Given the description of an element on the screen output the (x, y) to click on. 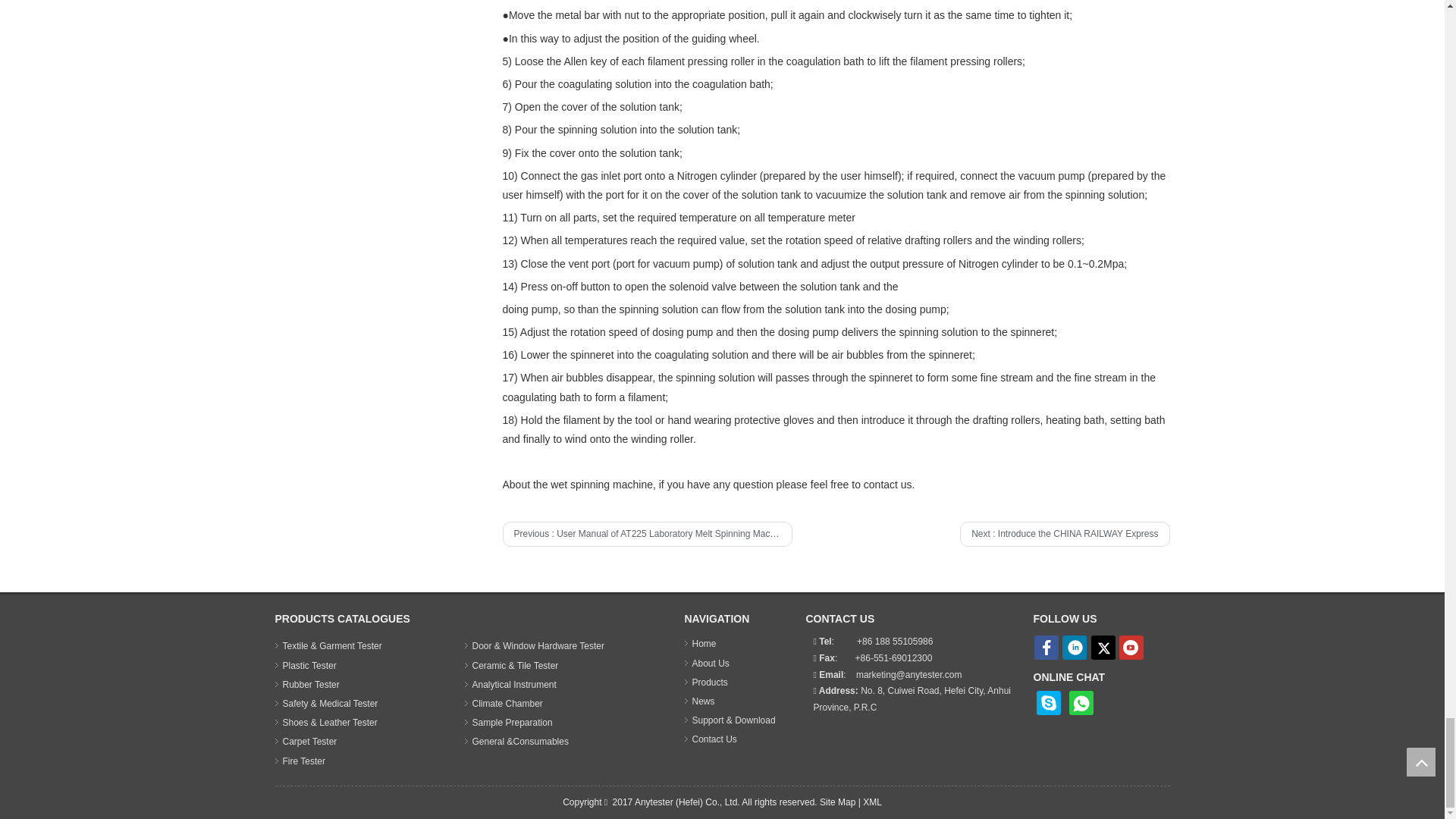
Carpet Tester (309, 741)
Fire Tester (303, 760)
Sample Preparation (511, 722)
Analytical Instrument (513, 684)
Rubber Tester (310, 684)
Plastic Tester (309, 665)
Climate Chamber (506, 703)
